Given the description of an element on the screen output the (x, y) to click on. 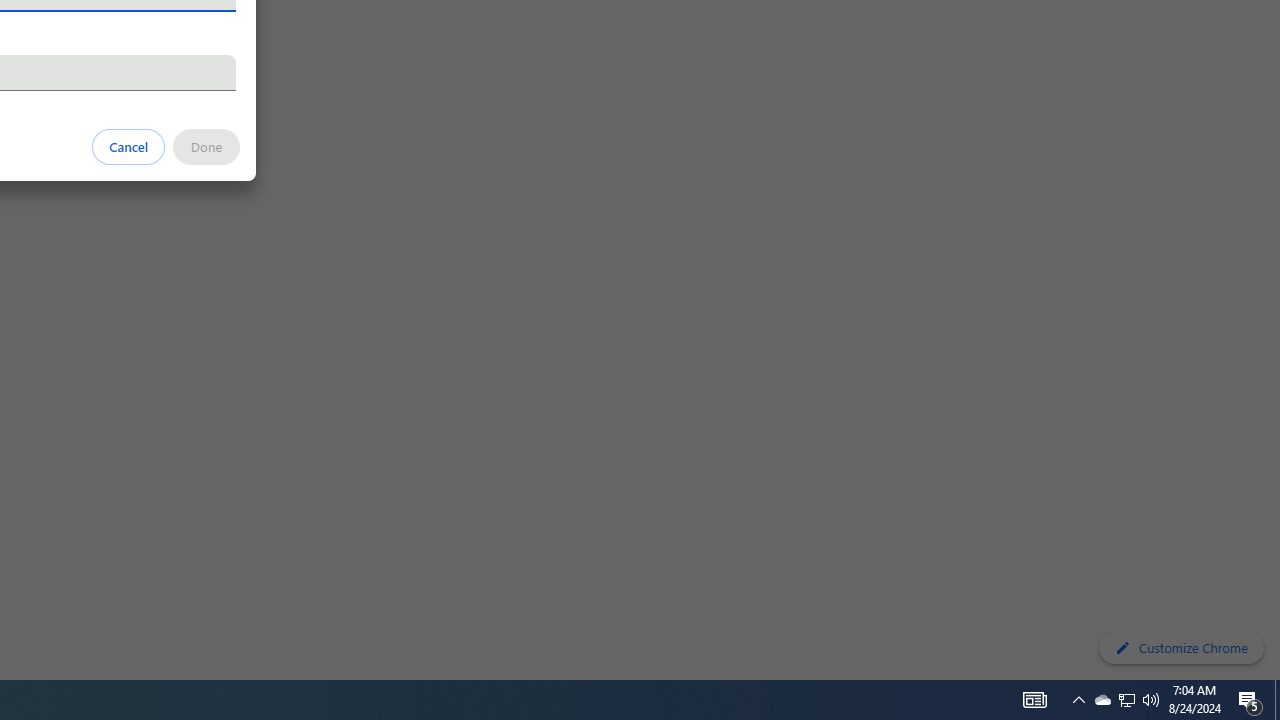
Done (206, 146)
Cancel (129, 146)
